Given the description of an element on the screen output the (x, y) to click on. 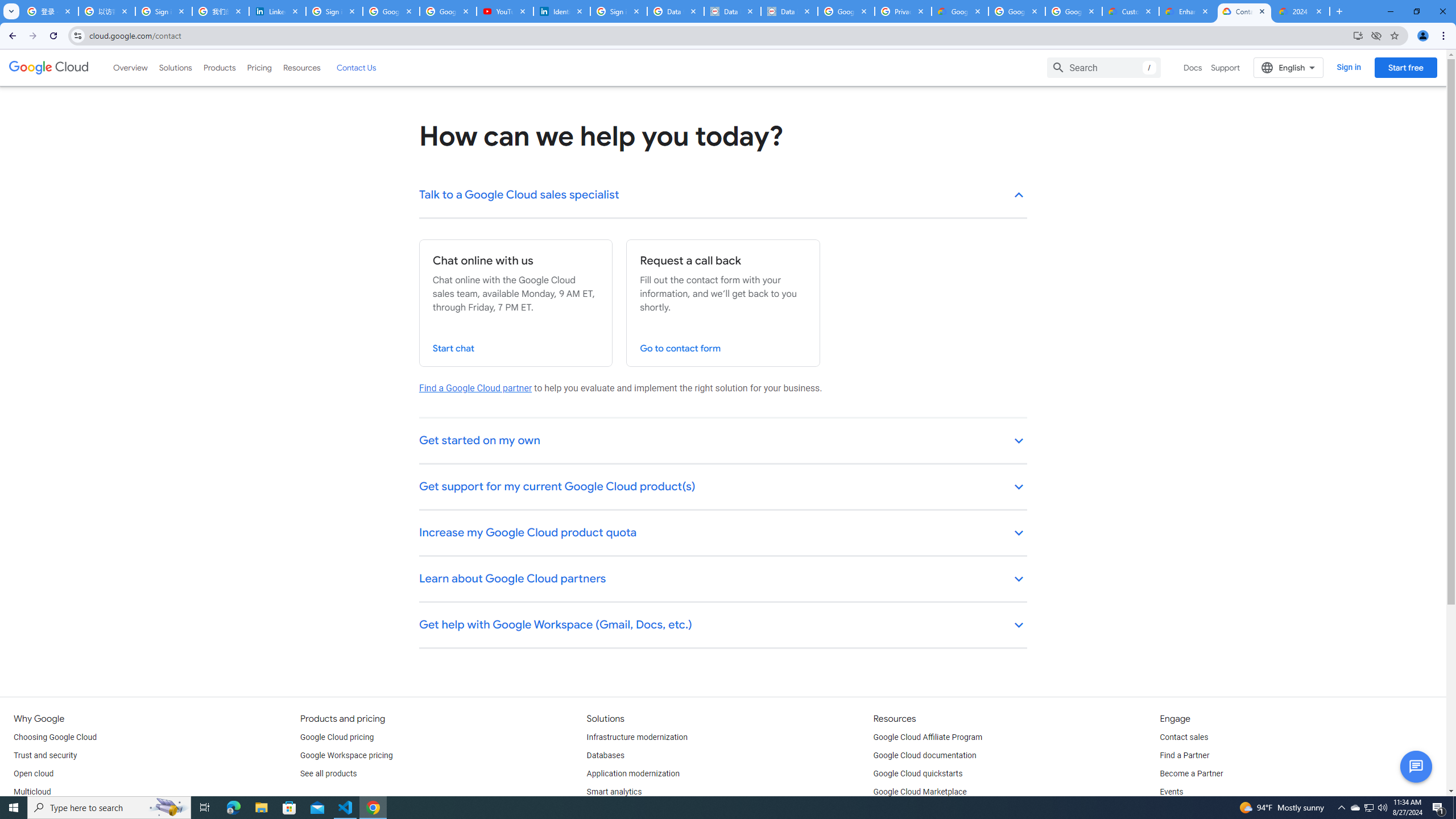
Talk to a Google Cloud sales specialist keyboard_arrow_up (723, 195)
Google Cloud Marketplace (919, 791)
Customer Care | Google Cloud (1130, 11)
Smart analytics (614, 791)
Support (1225, 67)
Google Cloud quickstarts (917, 773)
